Given the description of an element on the screen output the (x, y) to click on. 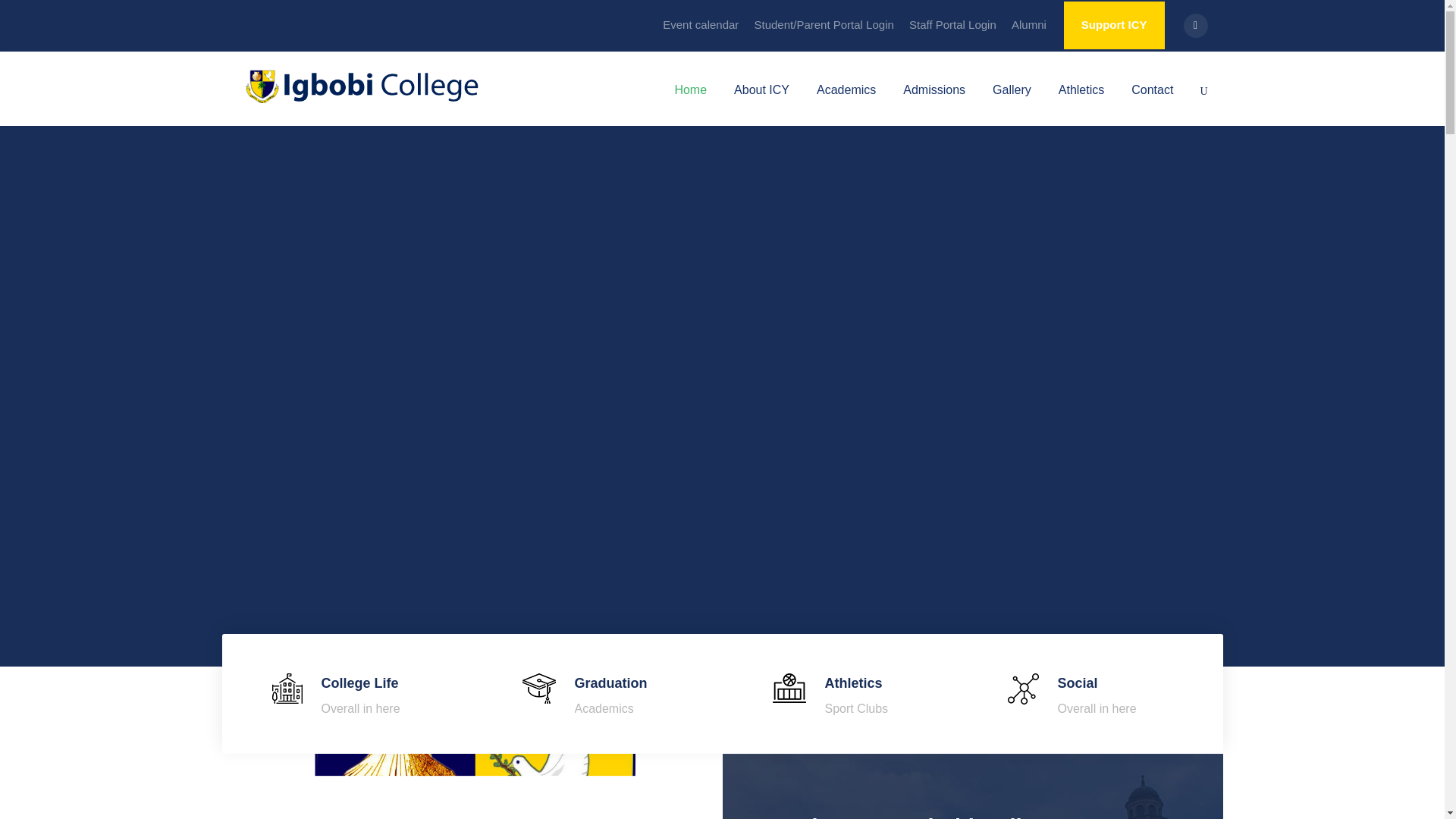
About ICY (761, 102)
Admissions (933, 102)
Support ICY (1114, 25)
icon-1 (285, 688)
icon-3 (788, 687)
icon-4 (1022, 688)
icon-2 (537, 688)
Staff Portal Login (951, 31)
Event calendar (700, 31)
Academics (846, 102)
Alumni (1028, 31)
